Given the description of an element on the screen output the (x, y) to click on. 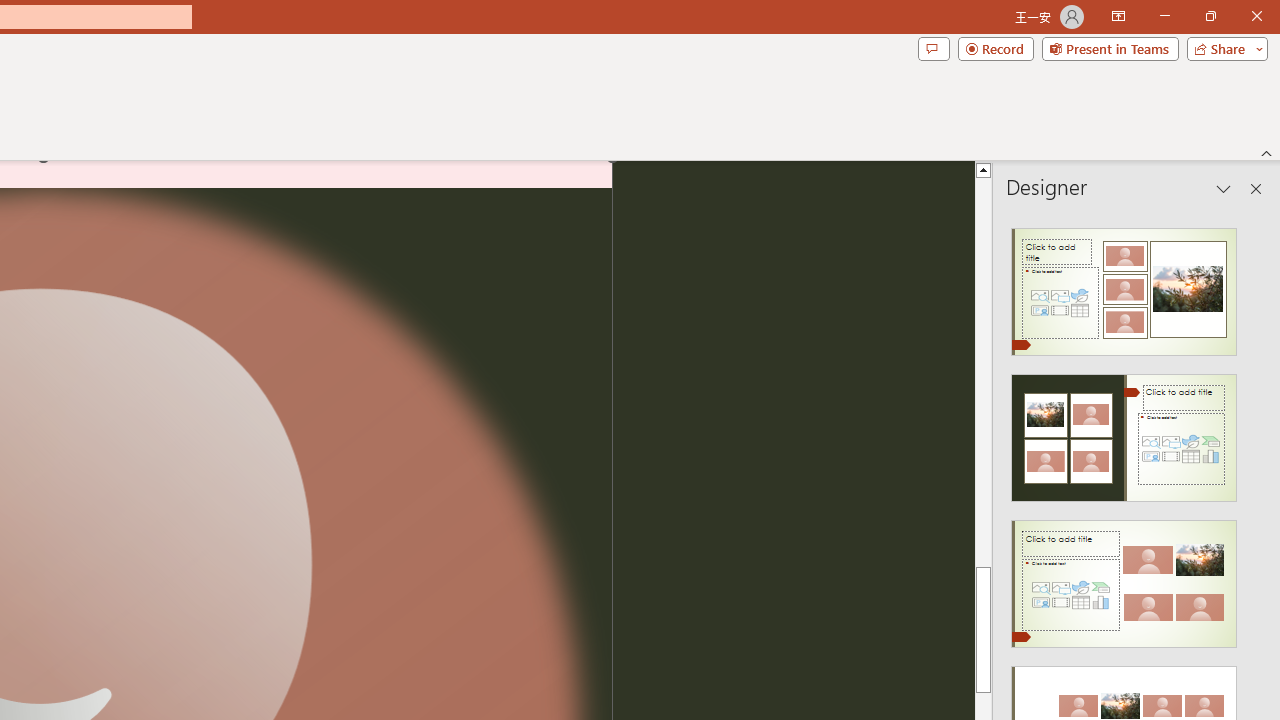
Recommended Design: Design Idea (1124, 286)
Ribbon Display Options (1118, 16)
Class: NetUIImage (1124, 584)
Collapse the Ribbon (1267, 152)
Page up (983, 408)
Design Idea (1124, 577)
Line up (983, 169)
Share (1223, 48)
Close pane (1256, 188)
Task Pane Options (1224, 188)
Present in Teams (1109, 48)
